Given the description of an element on the screen output the (x, y) to click on. 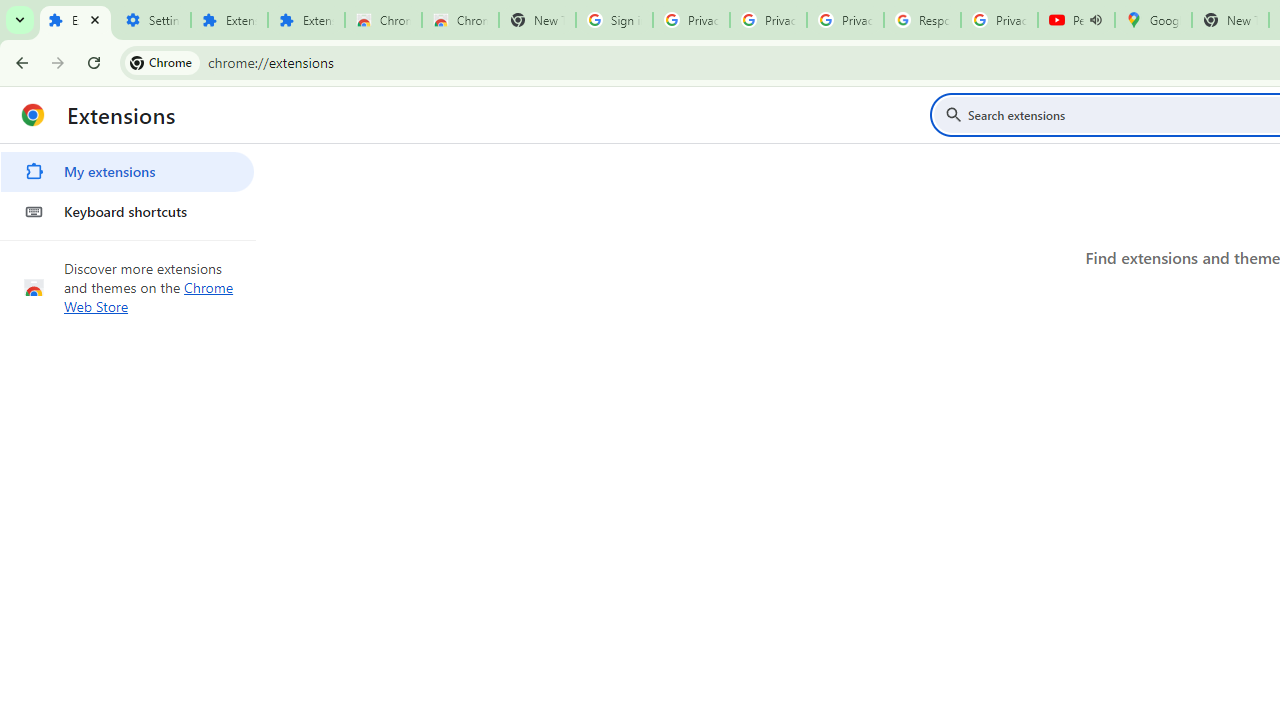
Sign in - Google Accounts (614, 20)
New Tab (537, 20)
Extensions (75, 20)
My extensions (127, 171)
Extensions (228, 20)
Personalized AI for you | Gemini - YouTube - Audio playing (1076, 20)
Keyboard shortcuts (127, 211)
Mute tab (1095, 20)
